Given the description of an element on the screen output the (x, y) to click on. 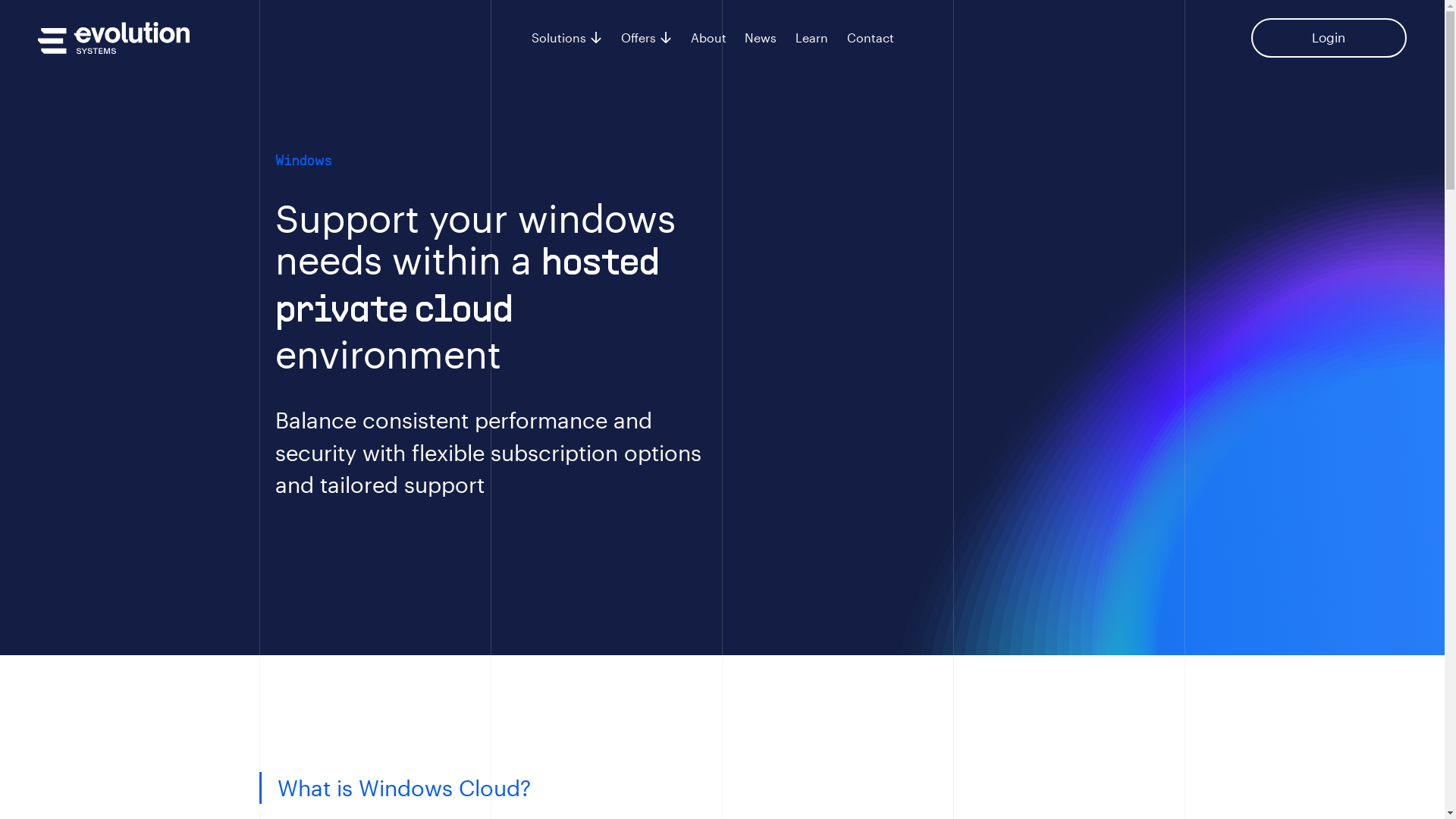
News Element type: text (760, 37)
Learn Element type: text (811, 37)
Contact Element type: text (870, 37)
Login Element type: text (1328, 37)
About Element type: text (708, 37)
